Given the description of an element on the screen output the (x, y) to click on. 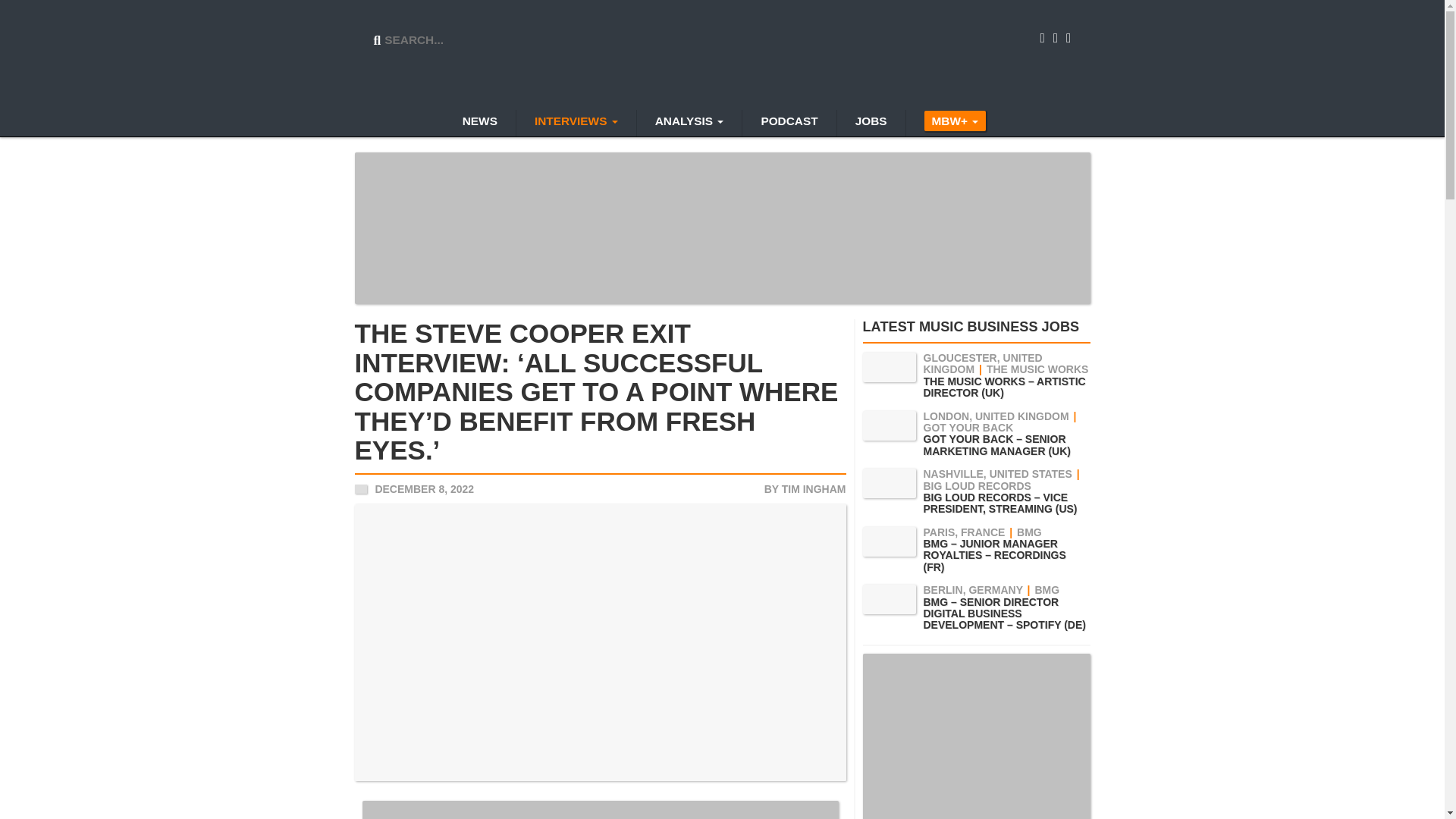
JOBS (870, 122)
ANALYSIS (689, 122)
INTERVIEWS (575, 122)
TIM INGHAM (813, 488)
United States (360, 488)
PODCAST (788, 122)
Music Business Worldwide (722, 56)
NEWS (479, 122)
Music Business Worldwide (722, 56)
